Given the description of an element on the screen output the (x, y) to click on. 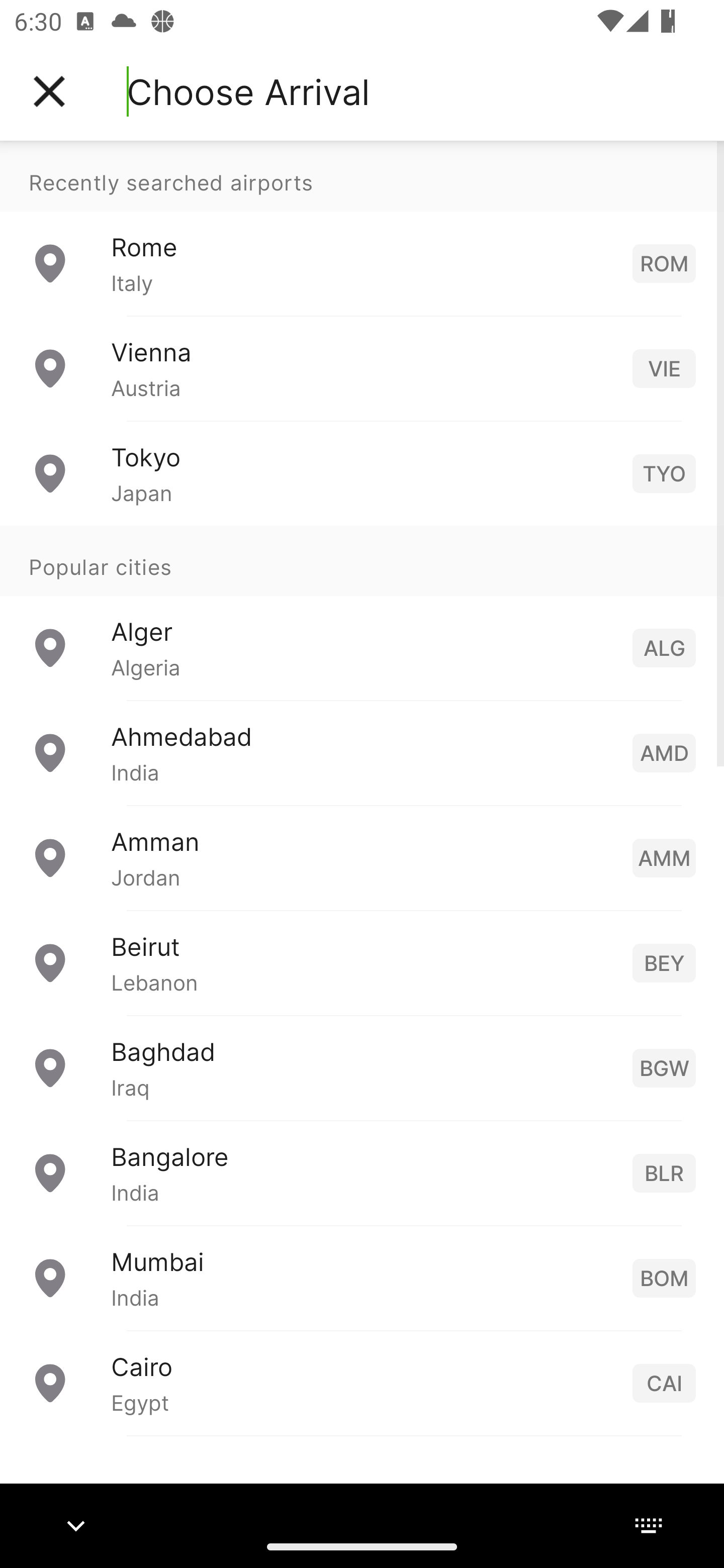
Choose Arrival (247, 91)
Recently searched airports Rome Italy ROM (362, 228)
Recently searched airports (362, 176)
Vienna Austria VIE (362, 367)
Tokyo Japan TYO (362, 472)
Popular cities Alger Algeria ALG (362, 612)
Popular cities (362, 560)
Ahmedabad India AMD (362, 751)
Amman Jordan AMM (362, 856)
Beirut Lebanon BEY (362, 961)
Baghdad Iraq BGW (362, 1066)
Bangalore India BLR (362, 1171)
Mumbai India BOM (362, 1276)
Cairo Egypt CAI (362, 1381)
